Given the description of an element on the screen output the (x, y) to click on. 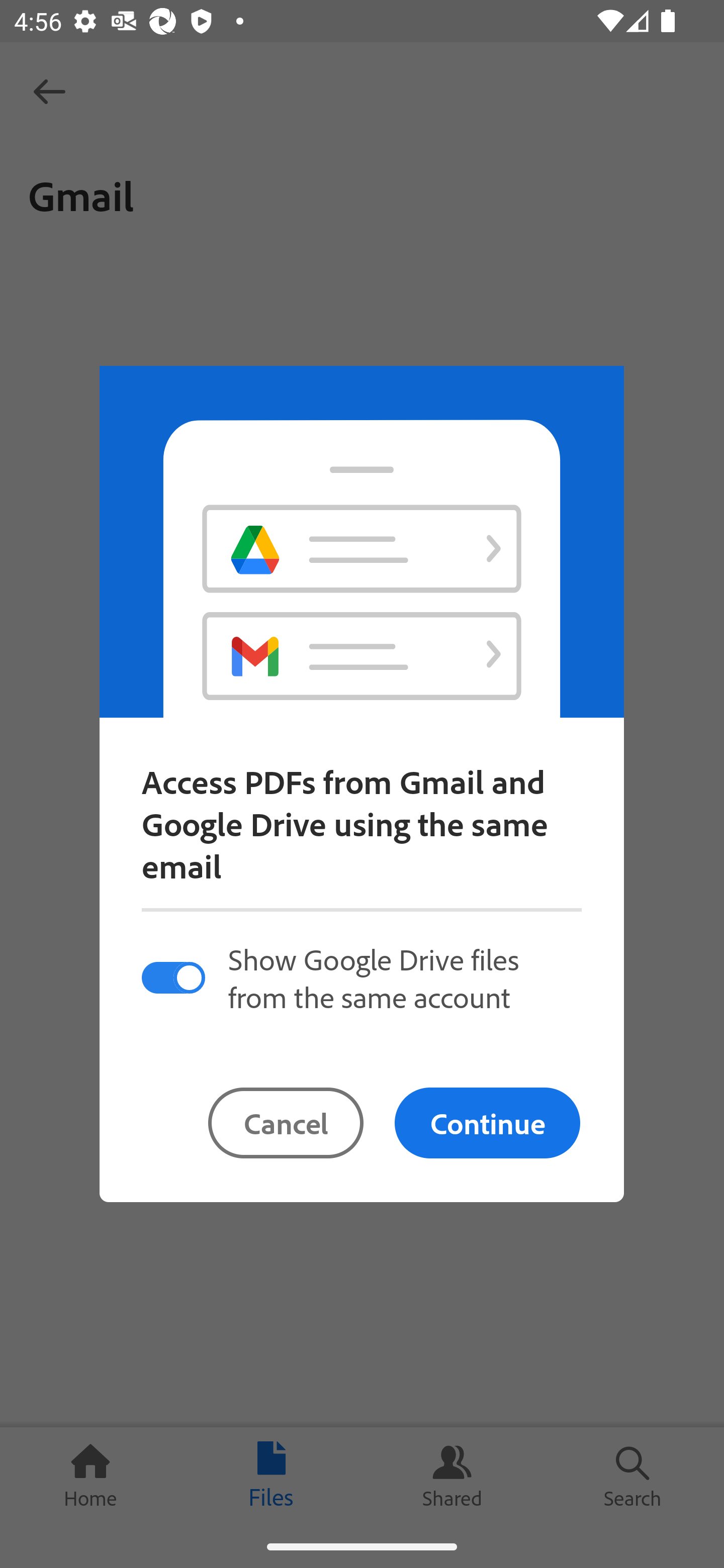
Show Google Drive files from the same account (361, 977)
Cancel (285, 1123)
Continue (487, 1123)
